Given the description of an element on the screen output the (x, y) to click on. 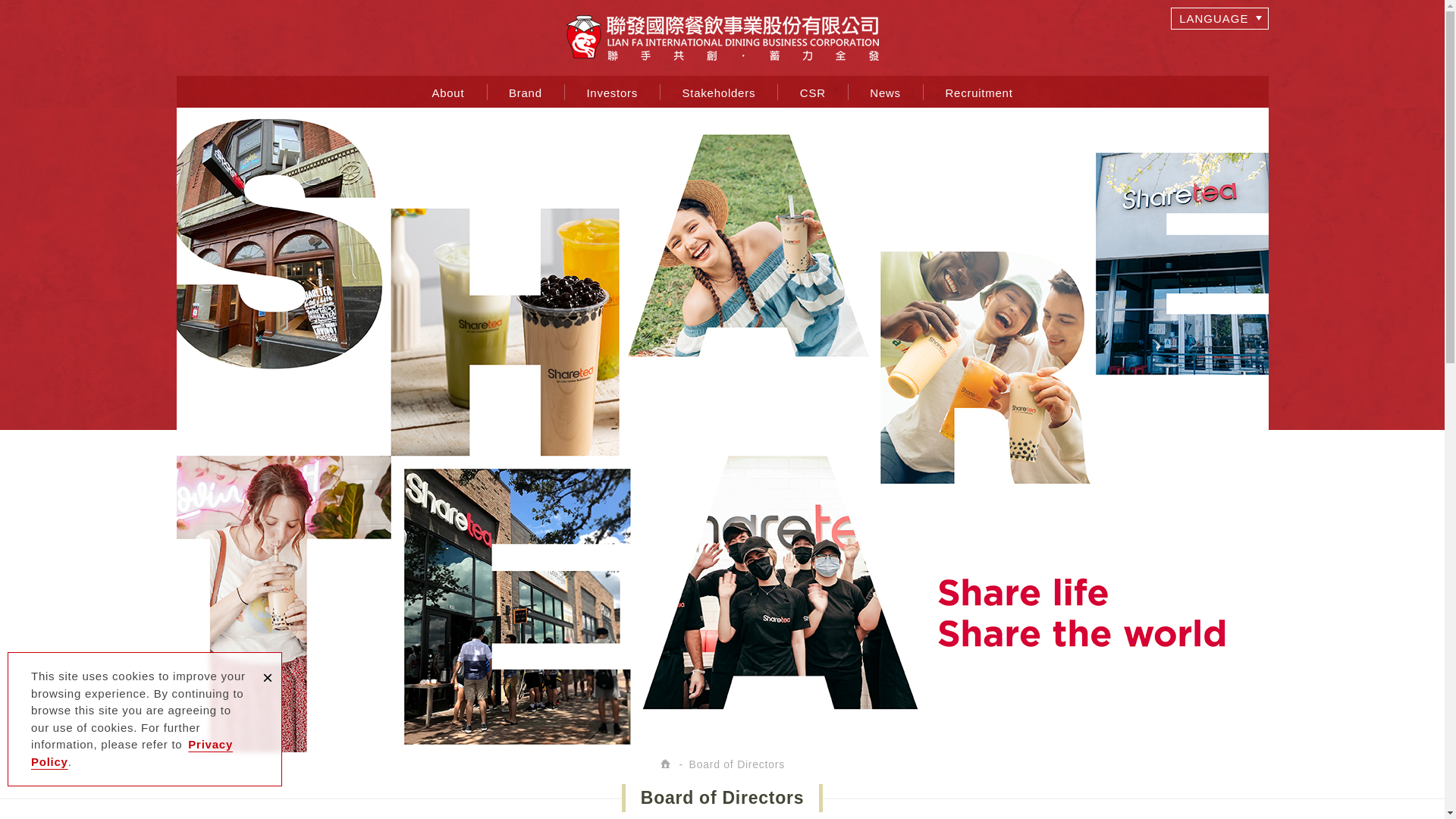
Privacy Policy Element type: text (131, 752)
Stakeholders Element type: text (718, 91)
Recruitment Element type: text (978, 91)
Investors Element type: text (611, 91)
Board of Directors Element type: text (736, 764)
News Element type: text (885, 91)
CSR Element type: text (812, 91)
LANGUAGE Element type: text (1218, 18)
Home Element type: text (666, 764)
About Element type: text (447, 91)
Brand Element type: text (525, 91)
